Given the description of an element on the screen output the (x, y) to click on. 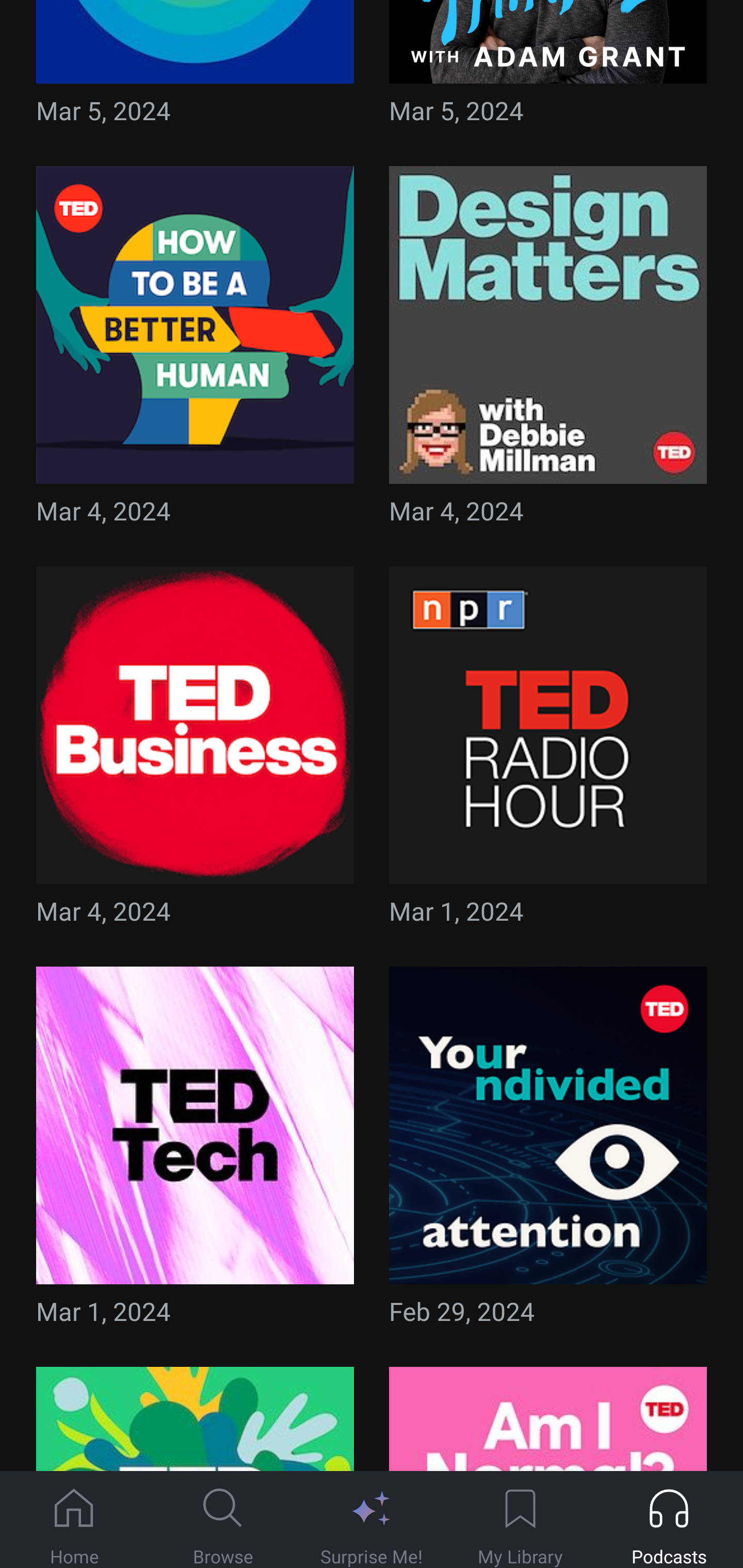
Mar 4, 2024 (194, 351)
Mar 4, 2024 (547, 351)
Mar 4, 2024 (194, 751)
Mar 1, 2024 (547, 751)
Mar 1, 2024 (194, 1151)
Feb 29, 2024 (547, 1151)
Home (74, 1520)
Browse (222, 1520)
Surprise Me! (371, 1520)
My Library (519, 1520)
Podcasts (668, 1520)
